Given the description of an element on the screen output the (x, y) to click on. 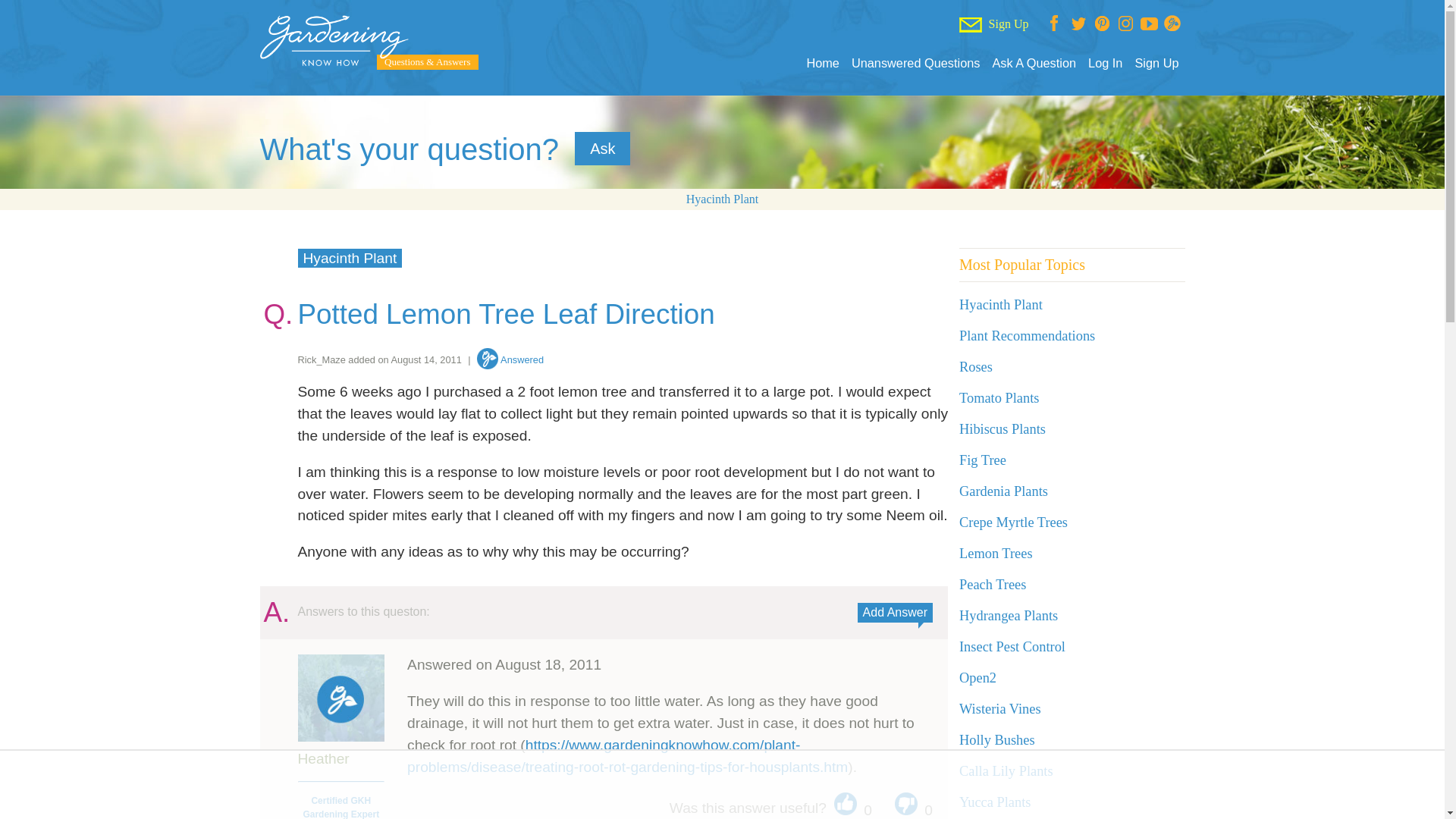
Ask A Question (1033, 62)
Crepe Myrtle Trees (1013, 522)
Fig Tree (982, 459)
Hydrangea Plants (1008, 615)
Gardenia Plants (1003, 491)
Hyacinth Plant (1000, 304)
Home (822, 62)
Hydrangea Plants (1008, 615)
Tomato Plants (999, 397)
Hyacinth Plant (349, 257)
Hyacinth Plant (1000, 304)
Gardenia Plants (1003, 491)
Peach Trees (992, 584)
Open2 (977, 677)
Add Answer (895, 612)
